Given the description of an element on the screen output the (x, y) to click on. 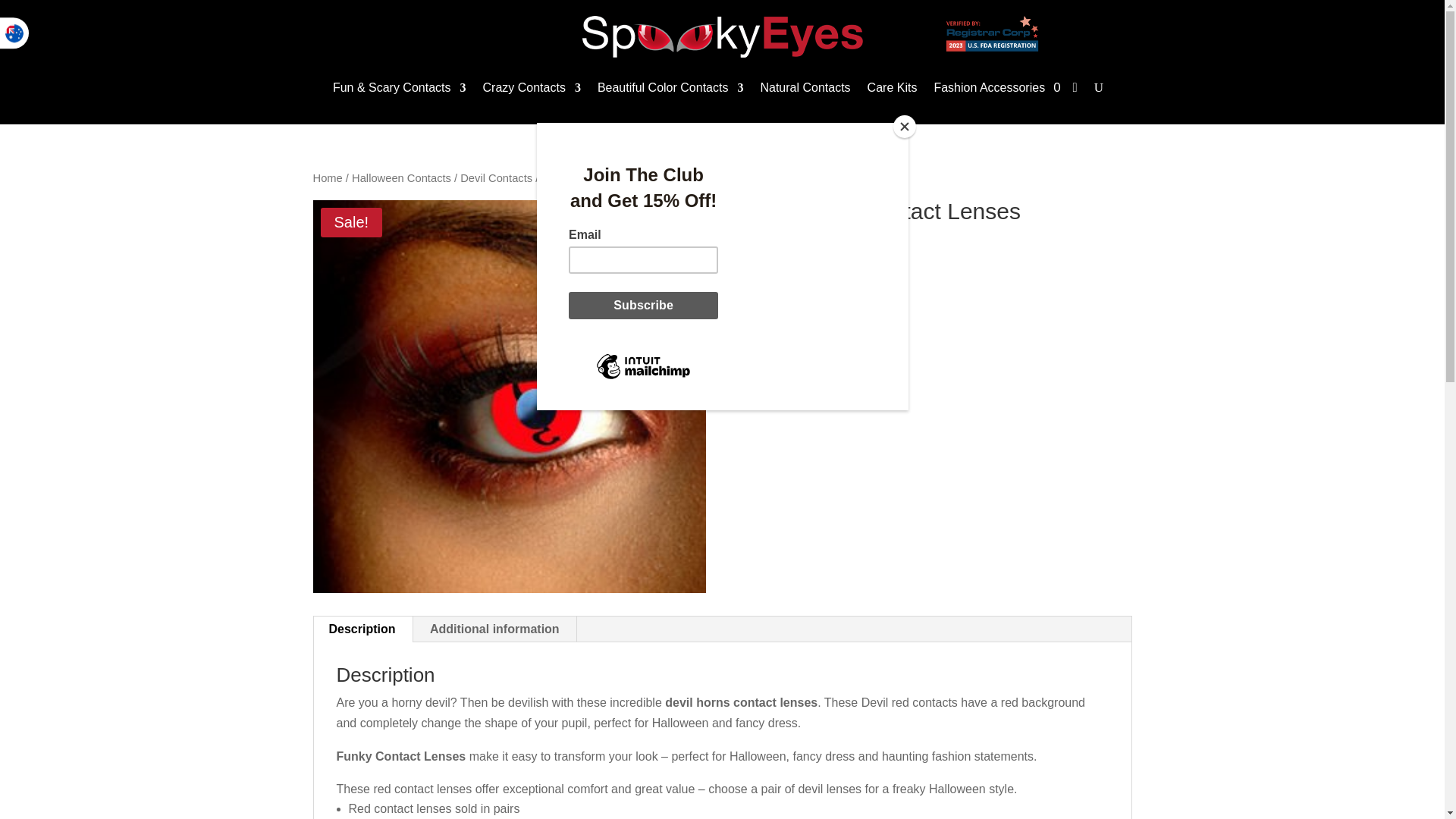
Crazy Contacts (531, 87)
Beautiful Color Contacts (670, 87)
